Given the description of an element on the screen output the (x, y) to click on. 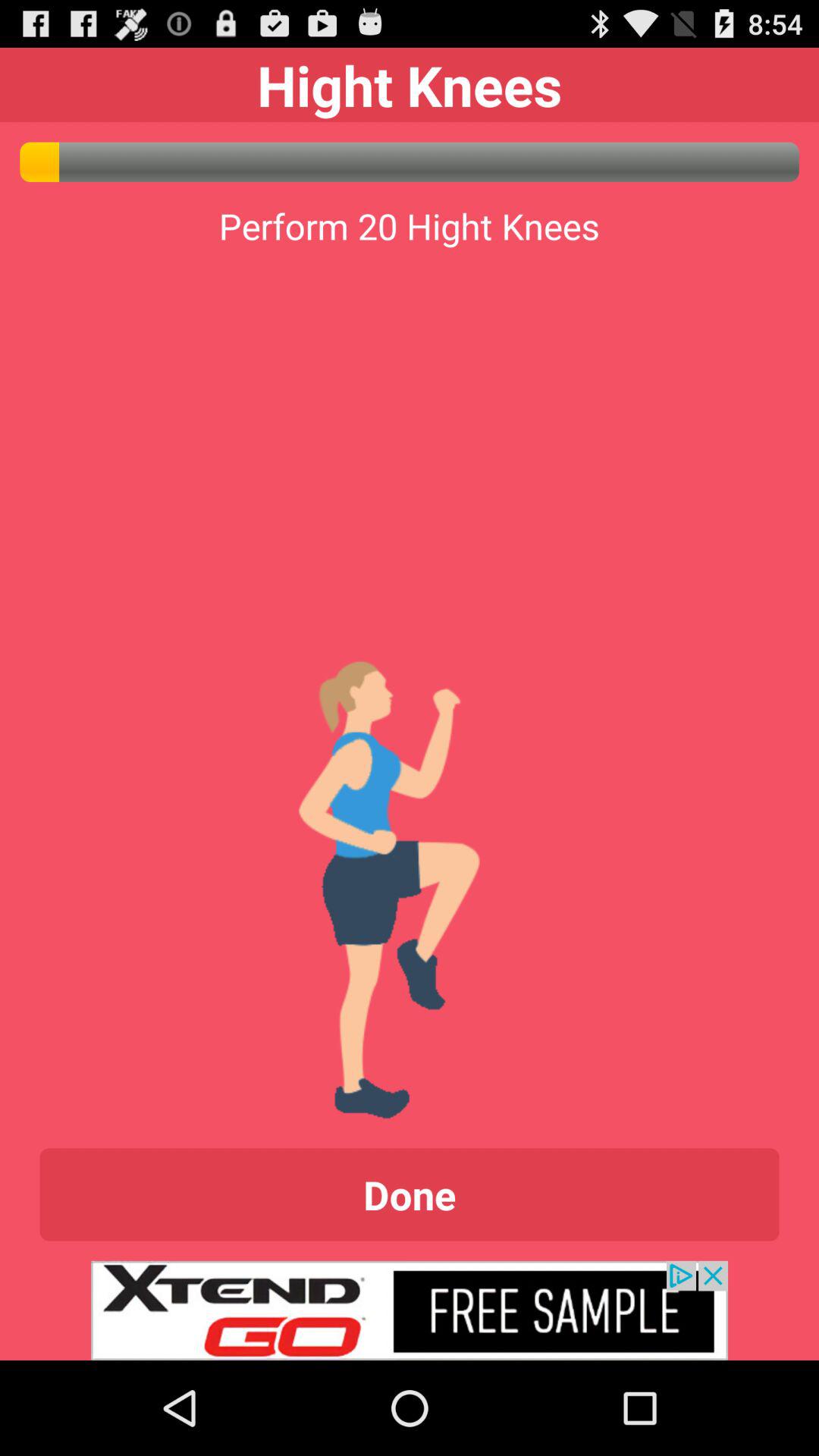
open advertisement (409, 1310)
